Given the description of an element on the screen output the (x, y) to click on. 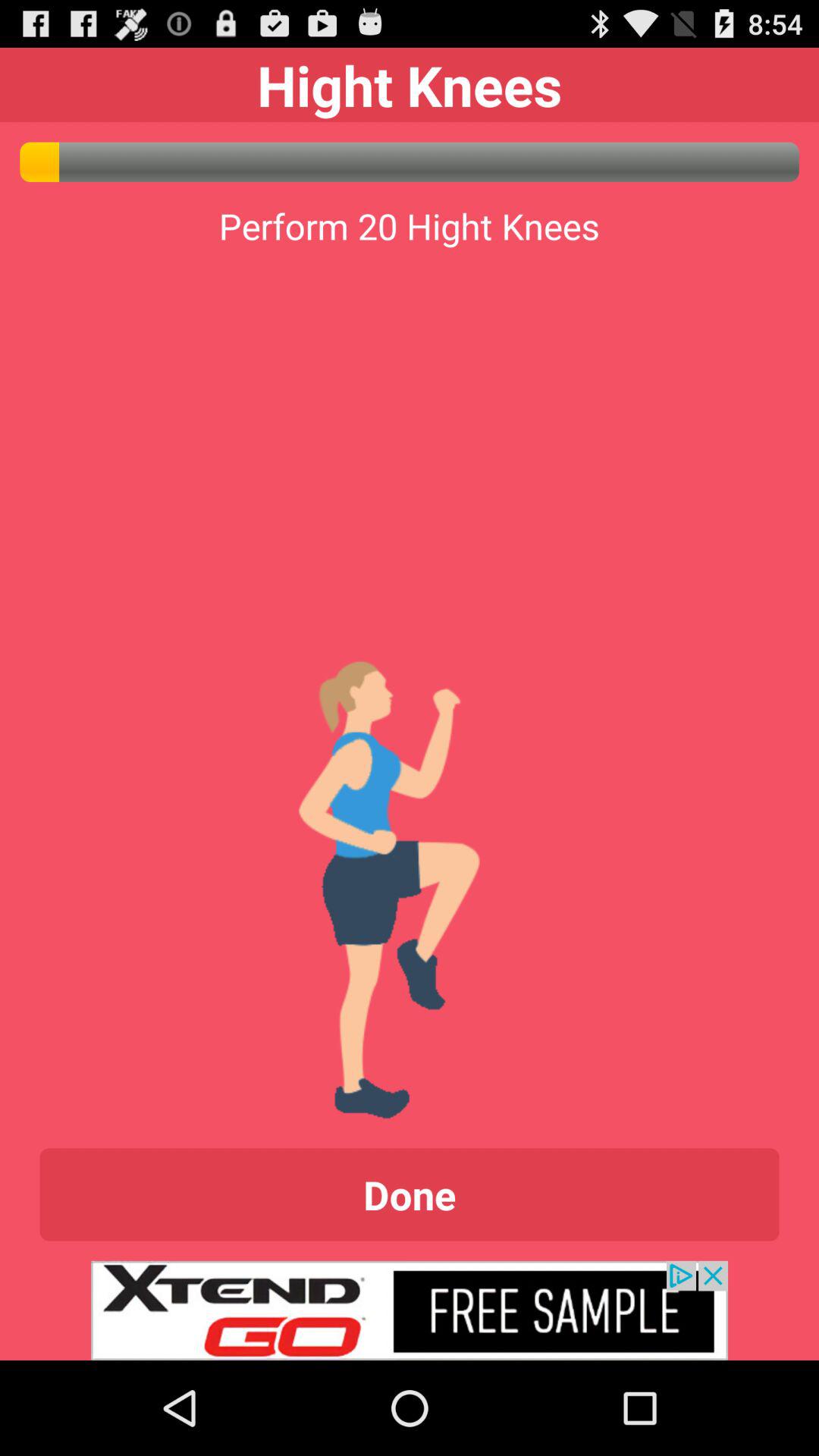
open advertisement (409, 1310)
